Given the description of an element on the screen output the (x, y) to click on. 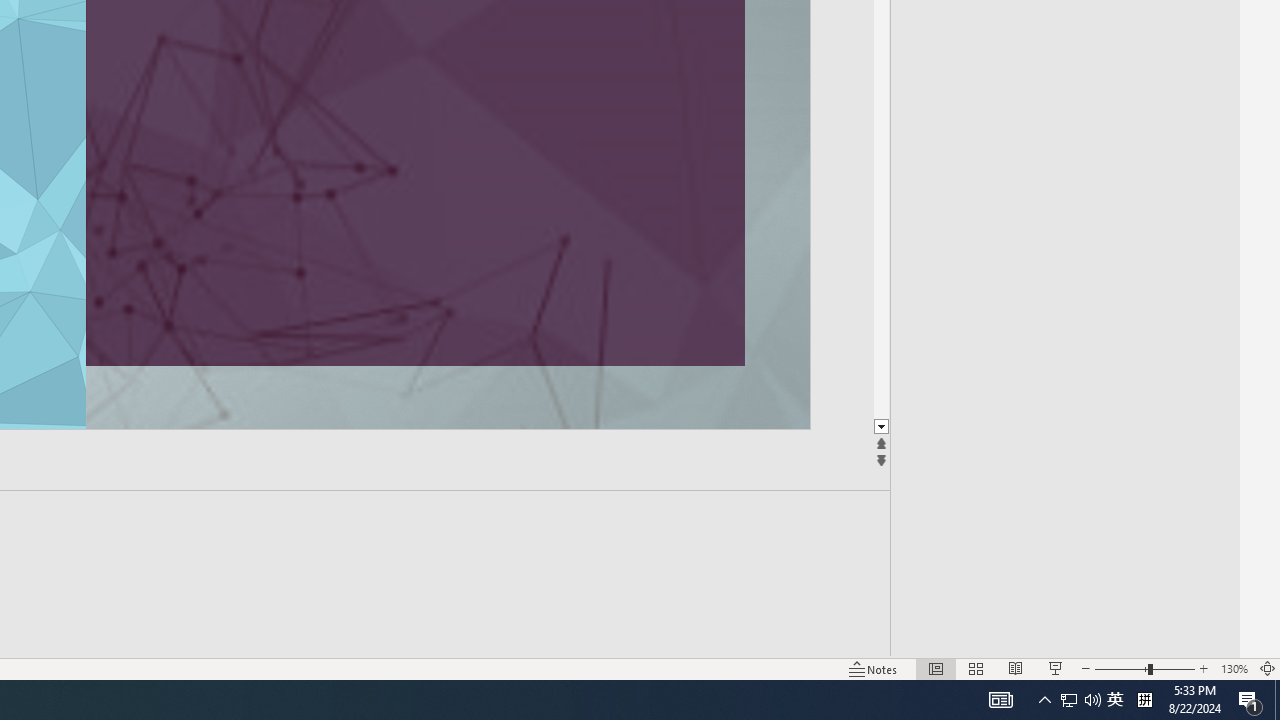
Zoom 130% (1234, 668)
